Given the description of an element on the screen output the (x, y) to click on. 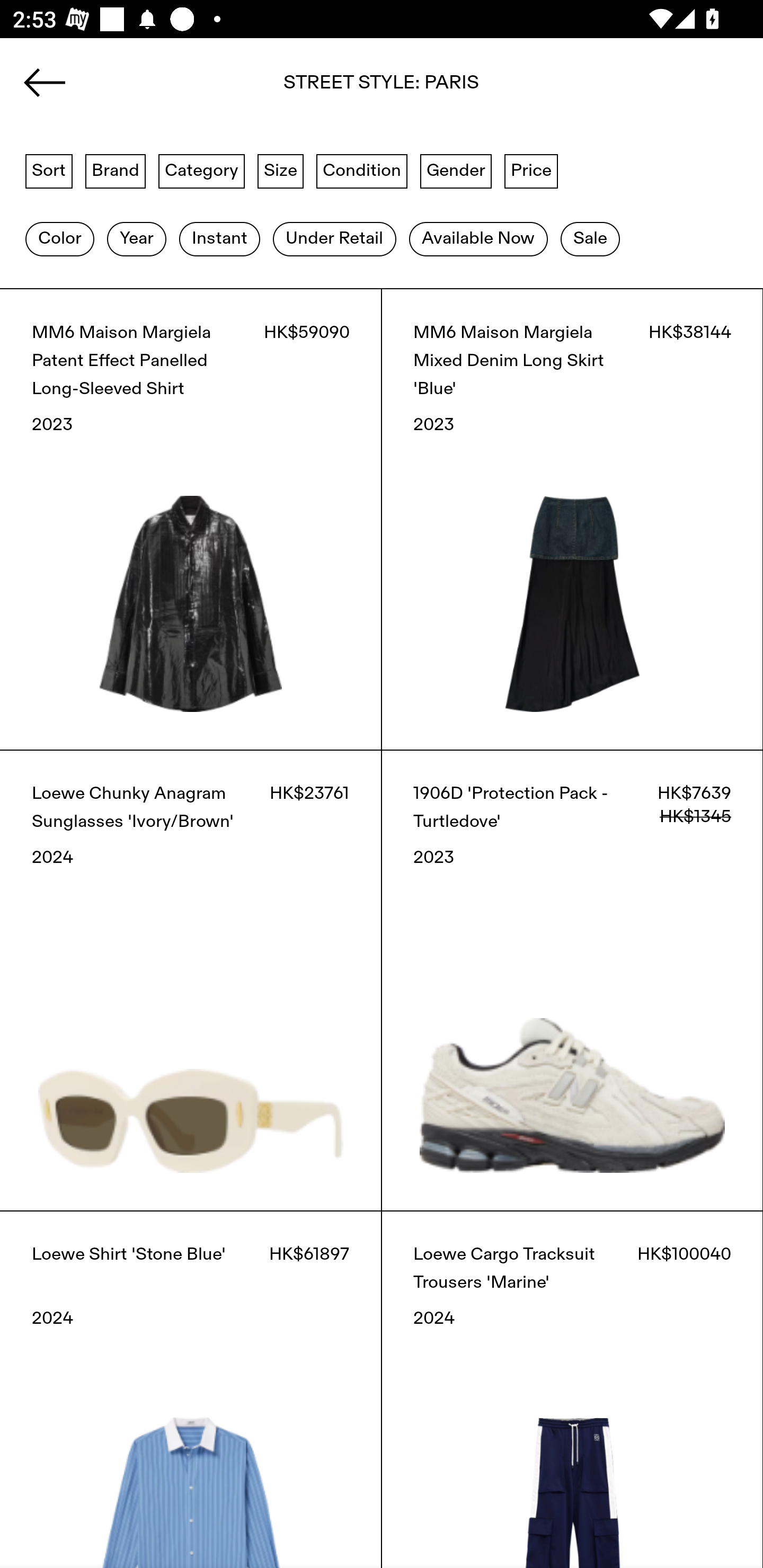
soccer shoes (381, 88)
Sort (48, 170)
Brand (115, 170)
Category (201, 170)
Size (280, 170)
Condition (361, 170)
Gender (455, 170)
Price (530, 170)
Color (59, 239)
Year (136, 239)
Instant (219, 239)
Under Retail (334, 239)
Available Now (477, 239)
Sale (589, 239)
Loewe Shirt 'Stone Blue' HK$61897 2024 (190, 1389)
